Given the description of an element on the screen output the (x, y) to click on. 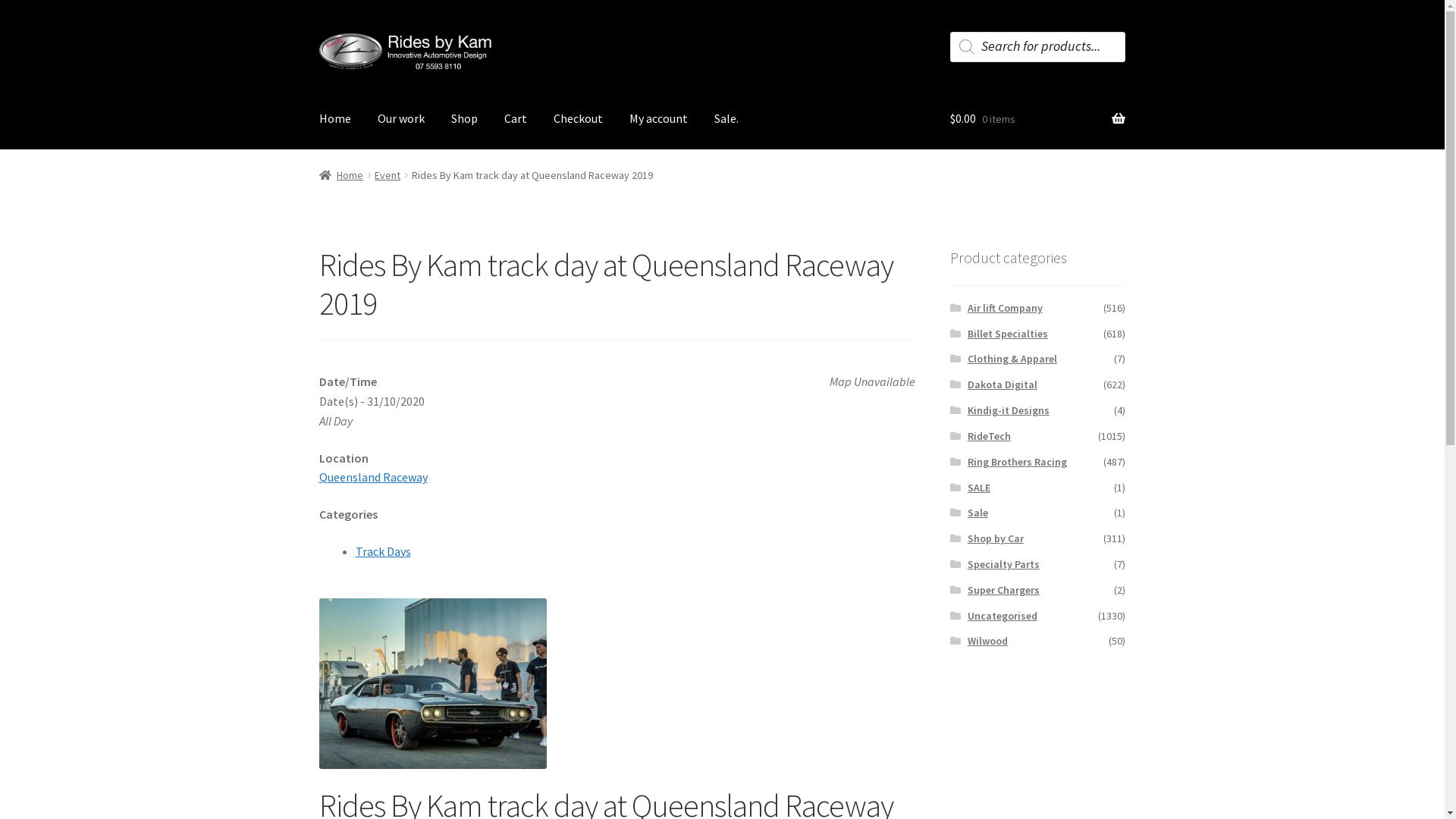
Billet Specialties Element type: text (1007, 333)
Uncategorised Element type: text (1002, 615)
Clothing & Apparel Element type: text (1012, 358)
Dakota Digital Element type: text (1002, 384)
Air lift Company Element type: text (1004, 307)
Sale. Element type: text (726, 118)
Super Chargers Element type: text (1003, 589)
Home Element type: text (335, 118)
Our work Element type: text (400, 118)
Specialty Parts Element type: text (1003, 564)
SALE Element type: text (978, 487)
Shop by Car Element type: text (995, 538)
Track Days Element type: text (383, 550)
Skip to navigation Element type: text (318, 31)
My account Element type: text (658, 118)
Kindig-it Designs Element type: text (1008, 410)
$0.00 0 items Element type: text (1037, 118)
Checkout Element type: text (578, 118)
Shop Element type: text (464, 118)
Sale Element type: text (977, 512)
Wilwood Element type: text (987, 640)
Ring Brothers Racing Element type: text (1016, 461)
Home Element type: text (341, 175)
Queensland Raceway Element type: text (373, 476)
Event Element type: text (387, 175)
RideTech Element type: text (988, 435)
Cart Element type: text (515, 118)
